Given the description of an element on the screen output the (x, y) to click on. 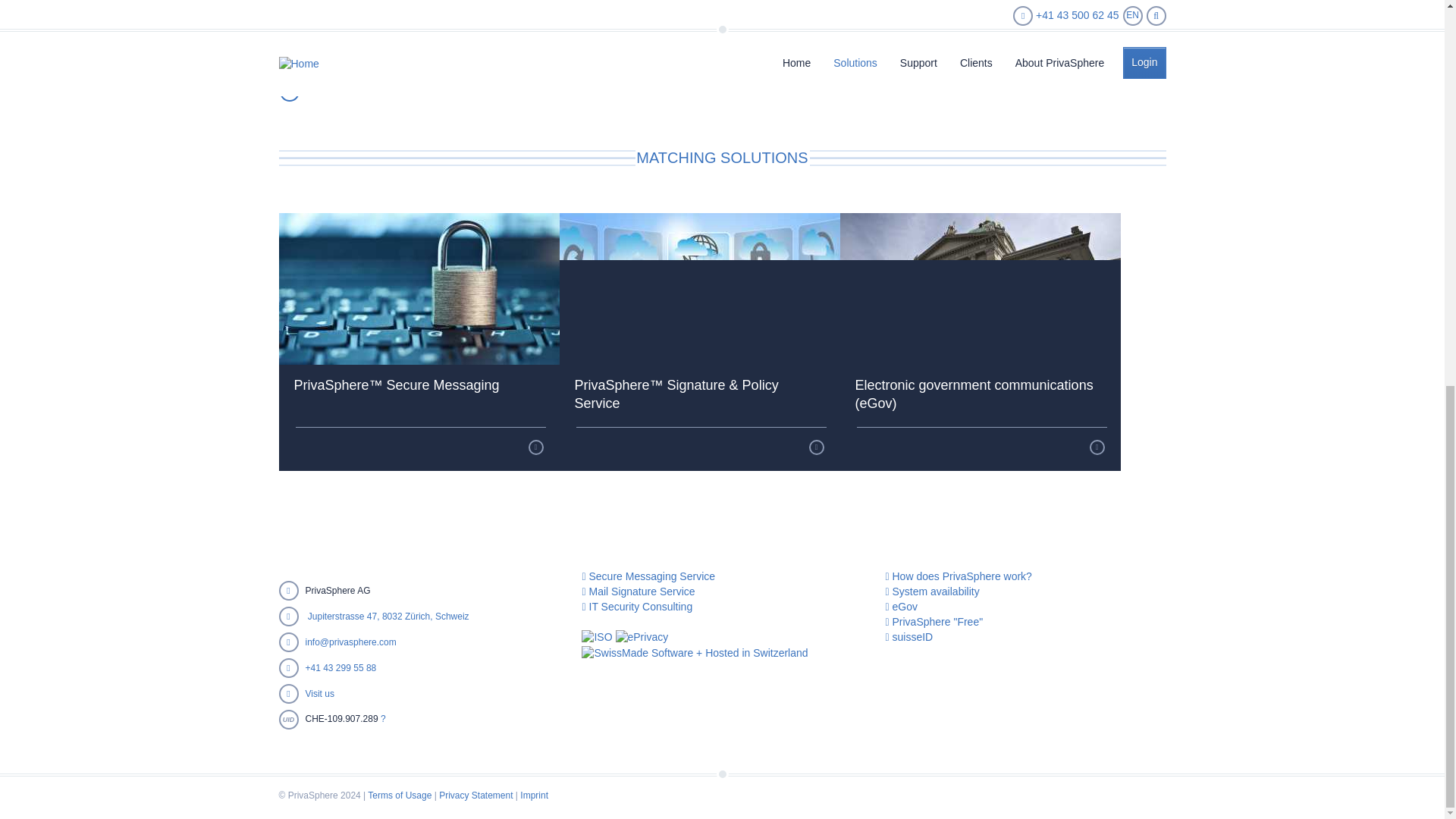
by open street map (330, 615)
by Google (451, 615)
Theme (419, 288)
Theme (699, 288)
Theme (980, 288)
by search.ch (408, 615)
